Given the description of an element on the screen output the (x, y) to click on. 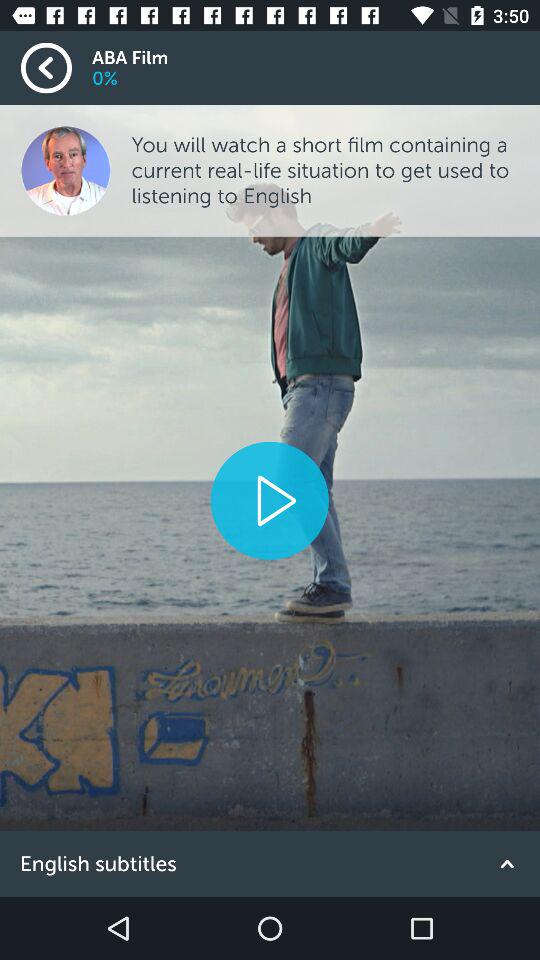
select item above the no subtitles (269, 500)
